Given the description of an element on the screen output the (x, y) to click on. 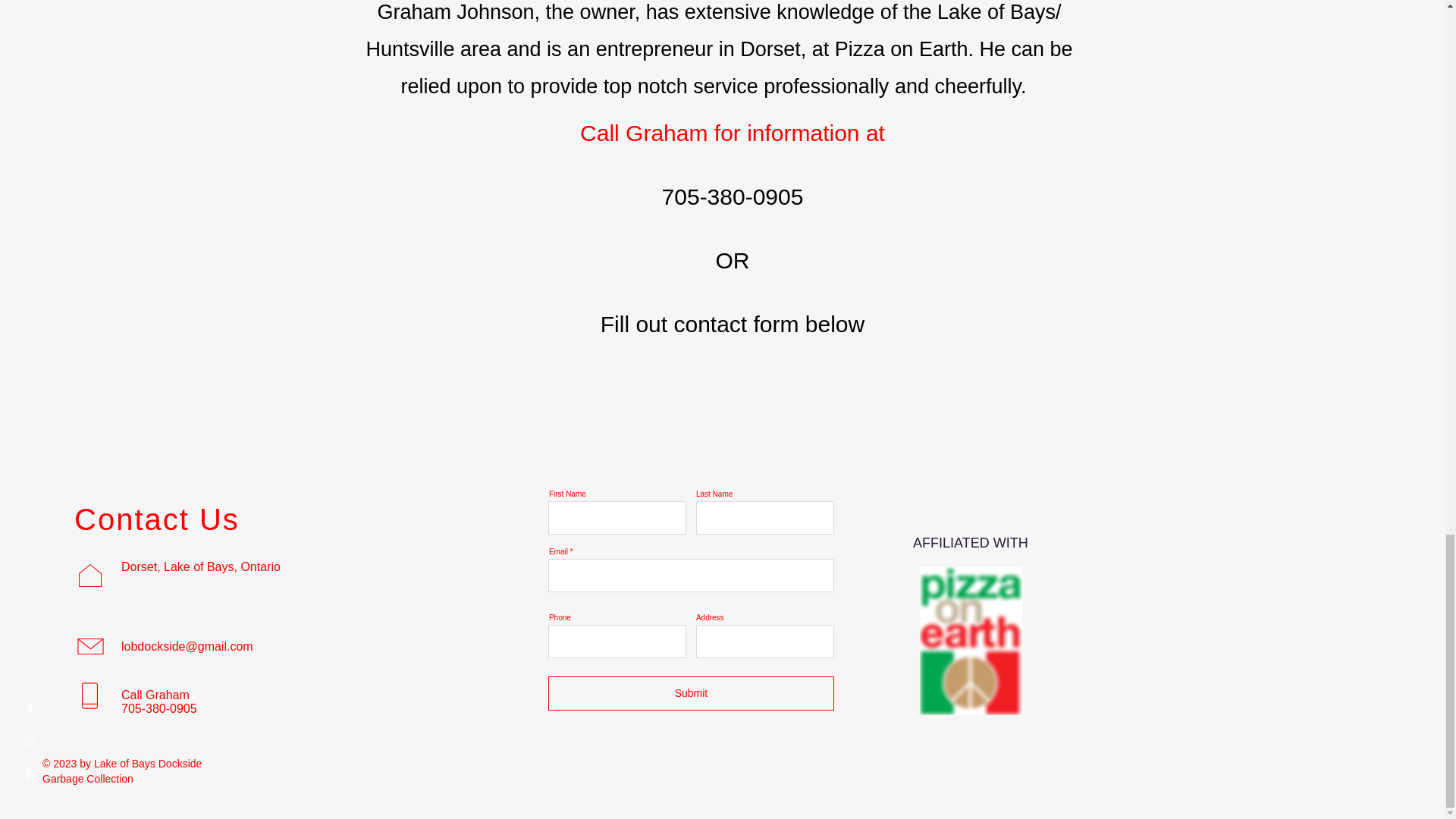
Submit (691, 693)
